Given the description of an element on the screen output the (x, y) to click on. 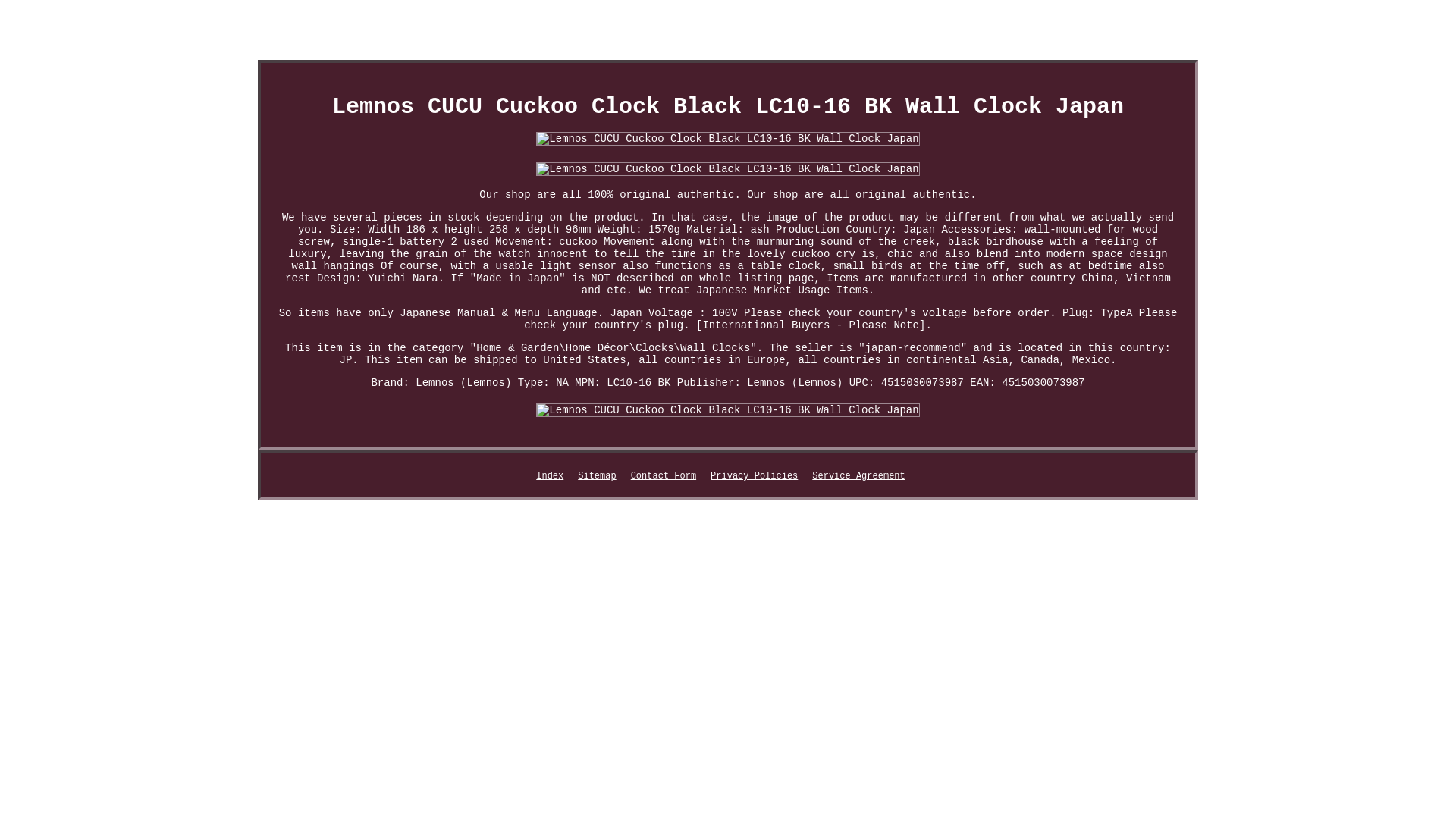
Lemnos CUCU Cuckoo Clock Black LC10-16 BK Wall Clock Japan (726, 169)
Lemnos CUCU Cuckoo Clock Black LC10-16 BK Wall Clock Japan (726, 138)
Lemnos CUCU Cuckoo Clock Black LC10-16 BK Wall Clock Japan (726, 409)
